Given the description of an element on the screen output the (x, y) to click on. 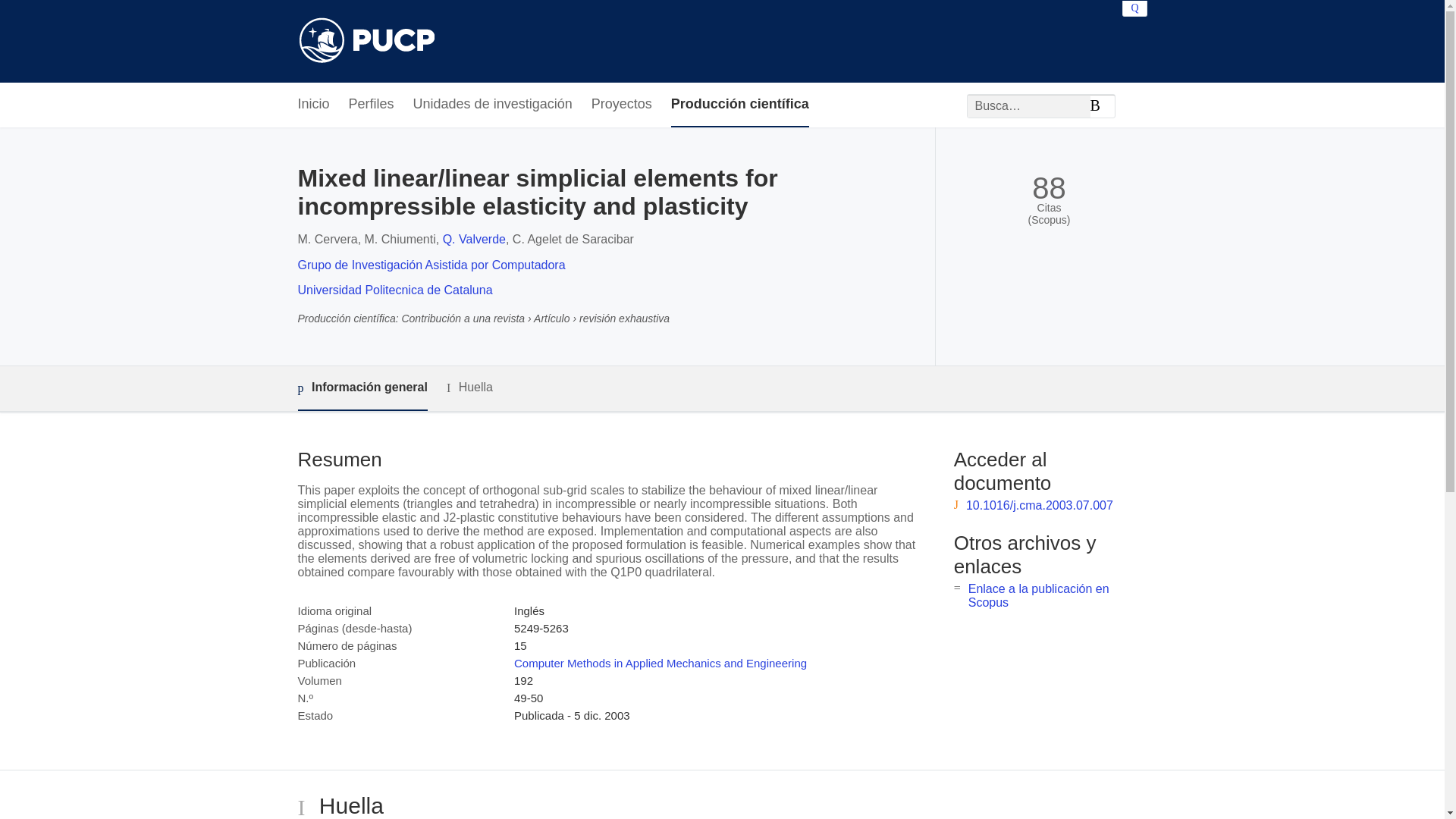
Computer Methods in Applied Mechanics and Engineering (659, 662)
Universidad Politecnica de Cataluna (394, 289)
Huella (469, 387)
Proyectos (621, 104)
Inicio (313, 104)
Q. Valverde (473, 238)
Perfiles (371, 104)
